Given the description of an element on the screen output the (x, y) to click on. 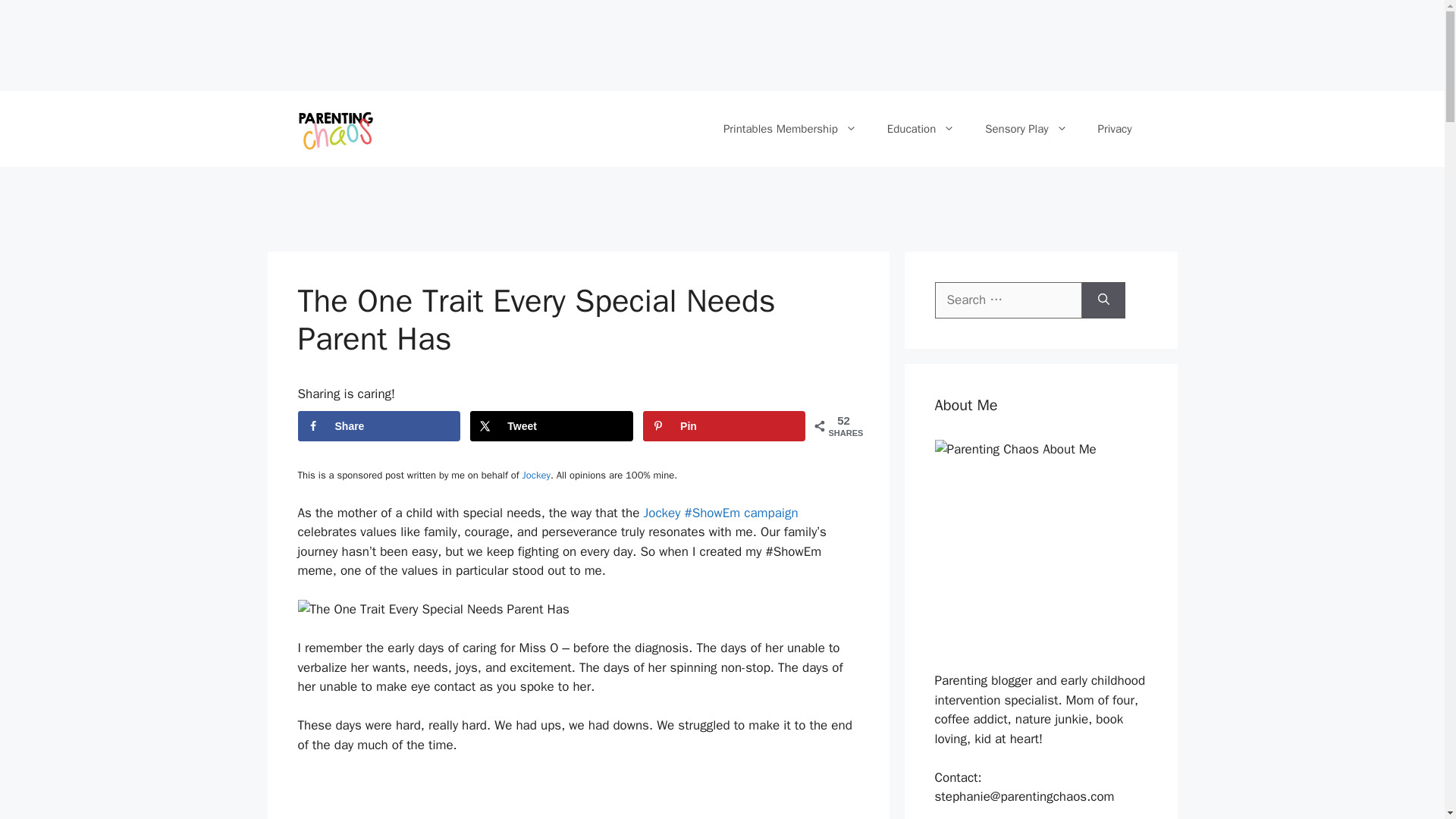
Share on Facebook (378, 426)
Tweet (550, 426)
Sensory Play (1025, 128)
Save to Pinterest (724, 426)
Printables Membership (789, 128)
Share on X (550, 426)
Education (920, 128)
Jockey (535, 474)
Share (378, 426)
Privacy (1115, 128)
